Given the description of an element on the screen output the (x, y) to click on. 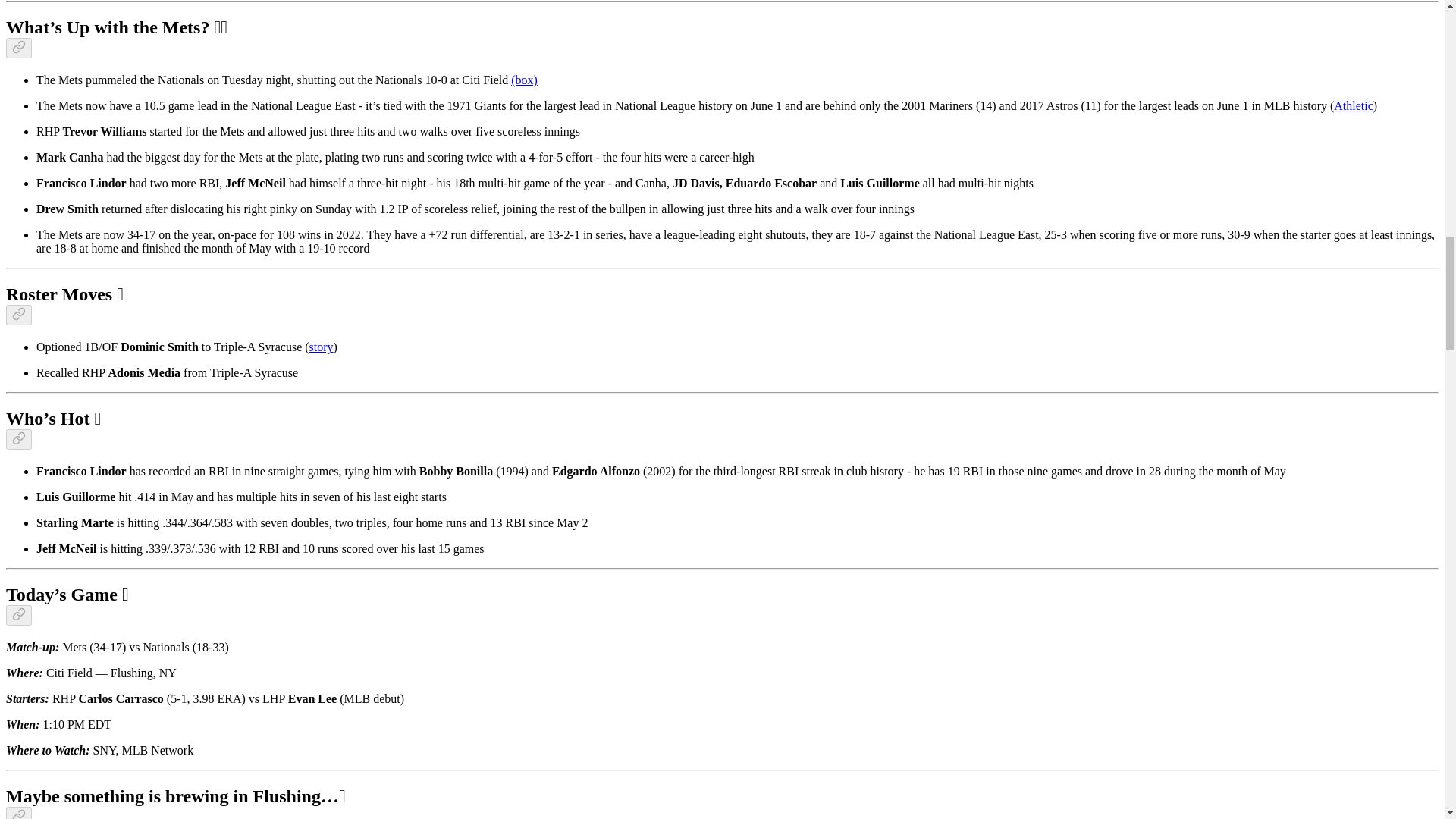
story (320, 346)
Athletic (1353, 105)
